Given the description of an element on the screen output the (x, y) to click on. 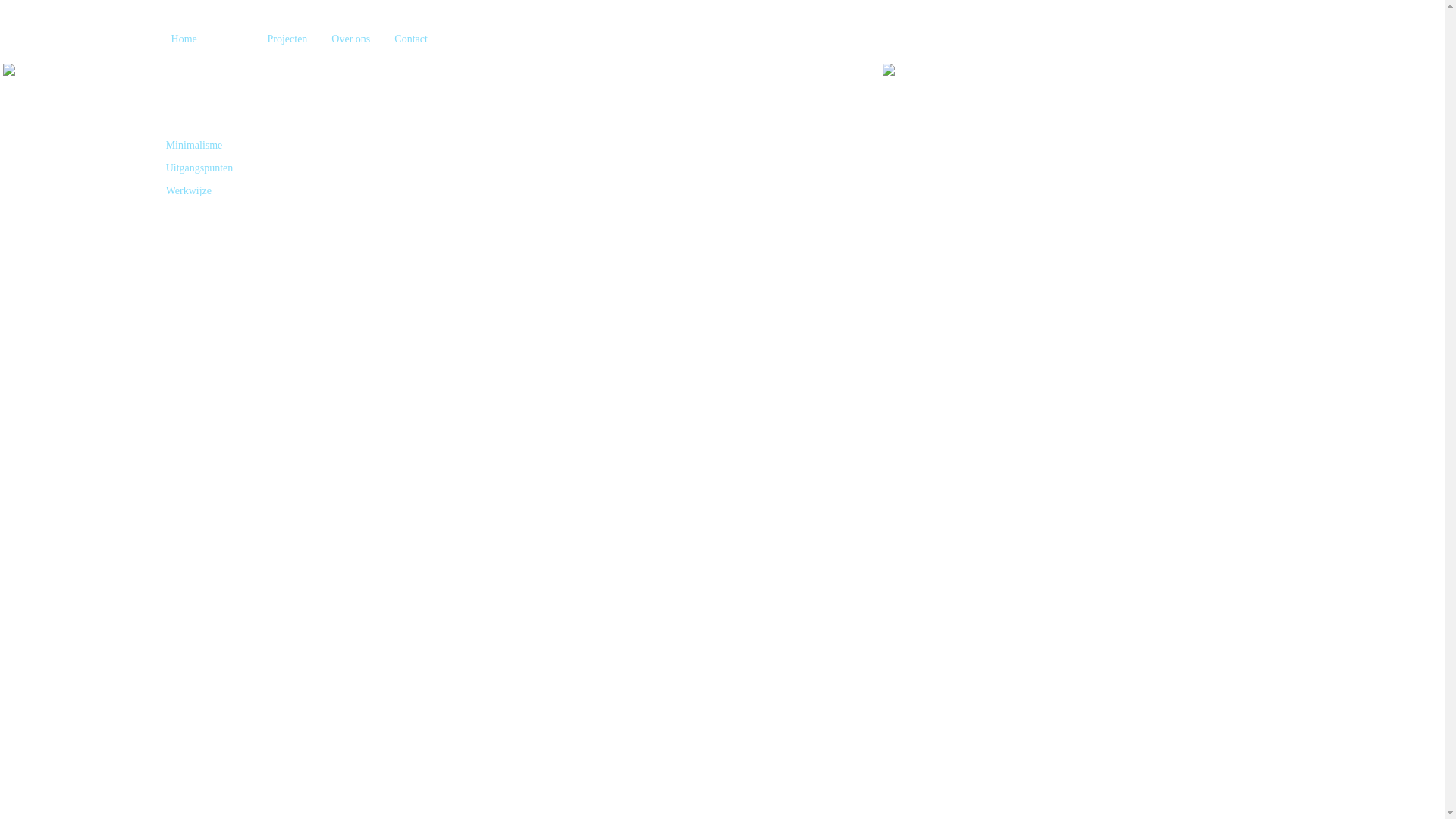
Visie Element type: text (232, 38)
Werkwijze Element type: text (188, 190)
Contact Element type: text (410, 38)
Projecten Element type: text (286, 38)
Architectuur Element type: text (192, 122)
Over ons Element type: text (350, 38)
Uitgangspunten Element type: text (199, 167)
Minimalisme Element type: text (194, 144)
Home Element type: text (184, 38)
hermanboonen@telenet.be Element type: text (1202, 266)
